Given the description of an element on the screen output the (x, y) to click on. 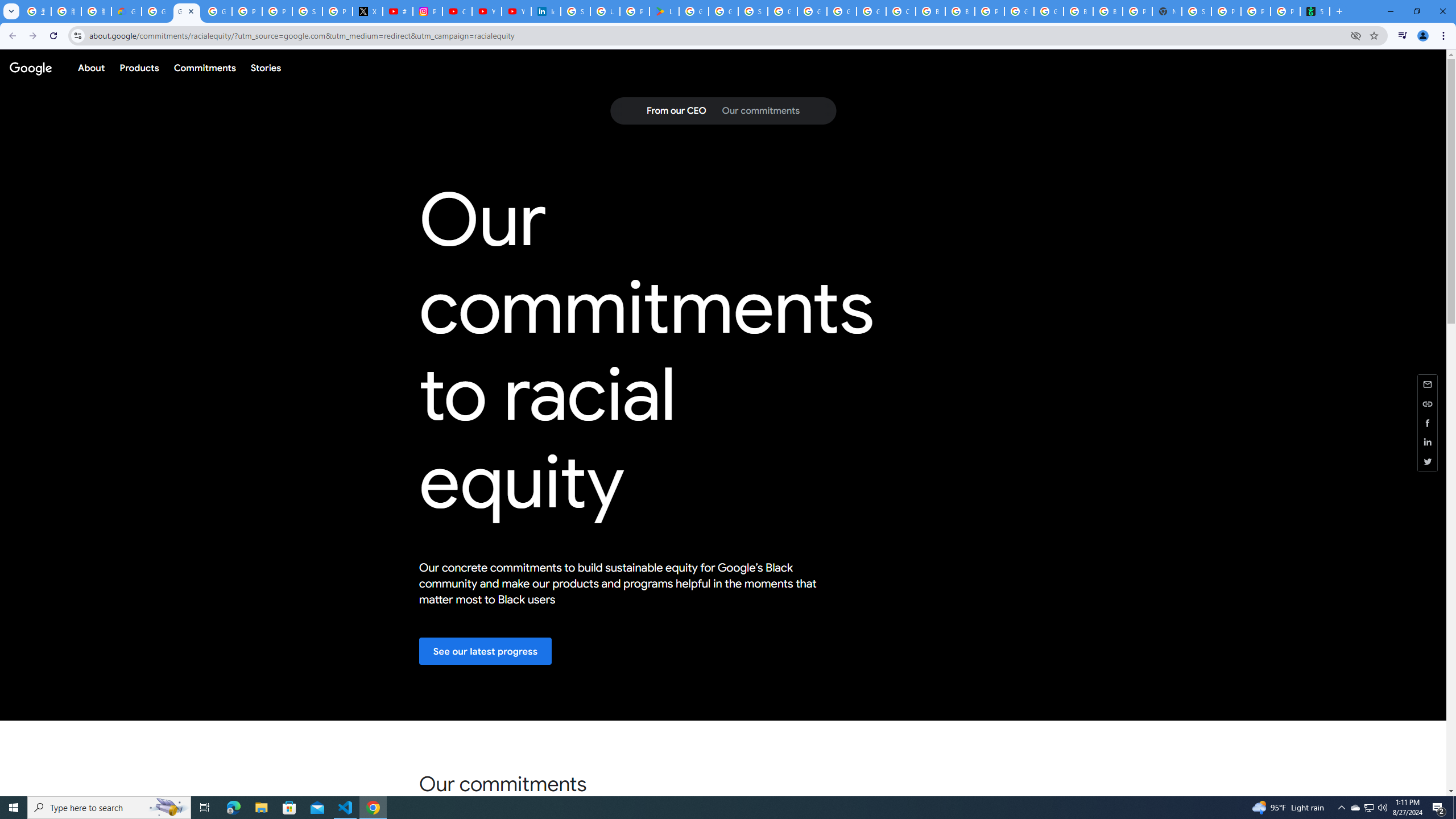
Google Workspace - Specific Terms (723, 11)
Share this page (Facebook) (1427, 422)
Sign in - Google Accounts (753, 11)
Browse Chrome as a guest - Computer - Google Chrome Help (1077, 11)
